Given the description of an element on the screen output the (x, y) to click on. 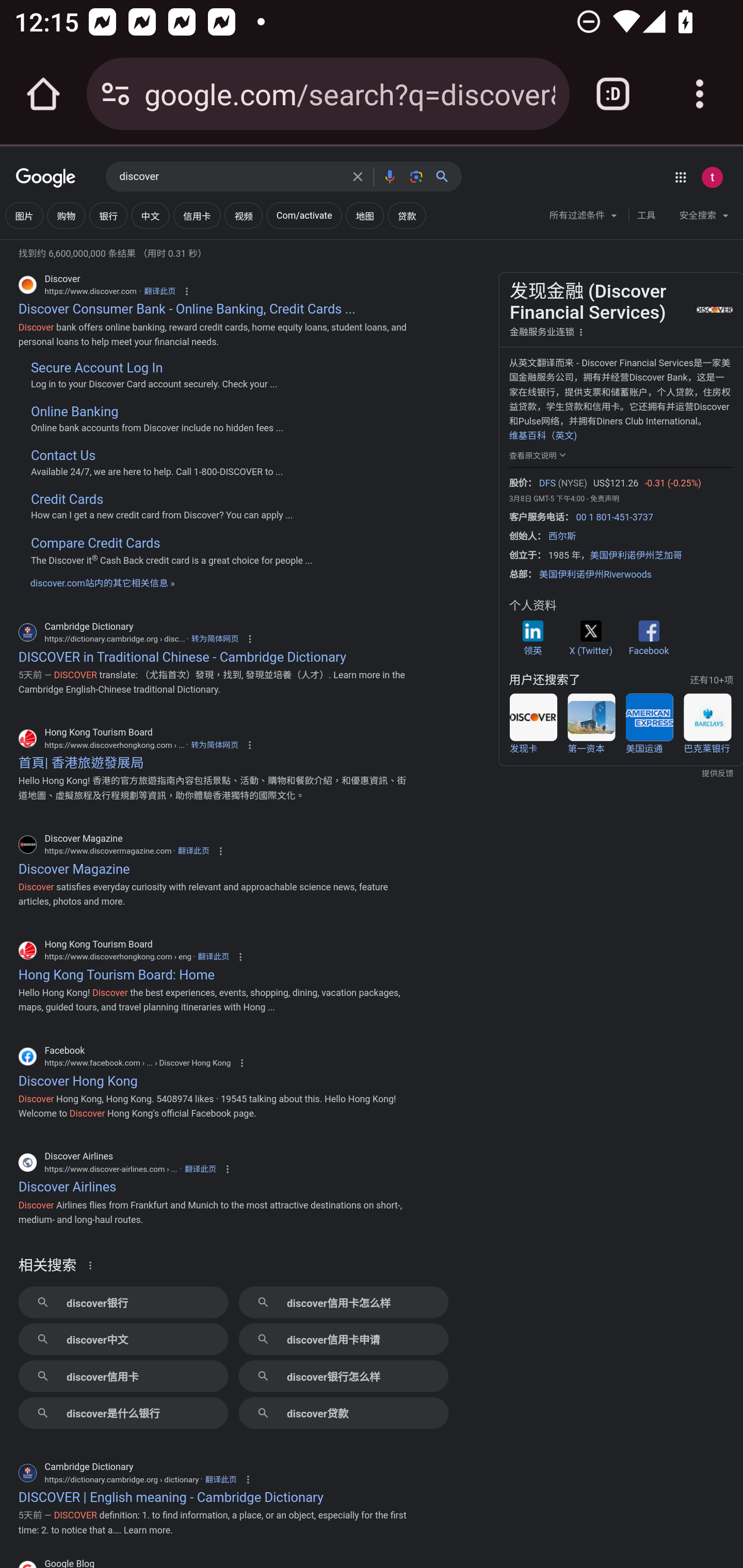
Open the home page (43, 93)
Connection is secure (115, 93)
Switch or close tabs (612, 93)
Customize and control Google Chrome (699, 93)
清除 (357, 176)
按语音搜索 (389, 176)
按图搜索 (415, 176)
搜索 (446, 176)
Google 应用 (680, 176)
Google 账号： test appium (testappium002@gmail.com) (712, 176)
Google (45, 178)
discover (229, 177)
图片 (24, 215)
购物 (65, 215)
添加“银行” 银行 (107, 215)
添加“中文” 中文 (149, 215)
添加“信用卡” 信用卡 (196, 215)
视频 (243, 215)
添加“Com/activate” Com/activate (303, 215)
地图 (364, 215)
添加“贷款” 贷款 (406, 215)
所有过滤条件 (583, 217)
工具 (646, 215)
安全搜索 (703, 217)
翻译此页 (159, 291)
“发现金融 (Discover Financial Services)”的缩略图图片 (713, 309)
更多选项 (580, 331)
Secure Account Log In (95, 368)
Online Banking (73, 412)
维基百科（英文) (542, 435)
Contact Us (62, 456)
查看原文说明 (538, 454)
DFS (546, 483)
Credit Cards (66, 499)
免责声明 (604, 498)
拨打电话 00 1 801-451-3737 (614, 516)
西尔斯 (562, 534)
Compare Credit Cards (94, 542)
美国伊利诺伊州芝加哥 (635, 555)
美国伊利诺伊州Riverwoods (595, 574)
discover.com站内的其它相关信息 » (102, 583)
领英 (532, 637)
X (Twitter) (590, 637)
Facebook (648, 637)
转为简体网页 (214, 638)
用户还搜索了 (544, 679)
还有10+项 (711, 680)
发现卡 (532, 724)
第一资本 (590, 724)
美国运通 (648, 724)
巴克莱银行 (706, 724)
转为简体网页 (214, 744)
提供反馈 (620, 773)
翻译此页 (192, 849)
翻译此页 (213, 956)
翻译此页 (200, 1169)
关于这条结果的详细信息 (93, 1264)
discover银行 (122, 1301)
discover信用卡怎么样 (343, 1301)
discover中文 (122, 1338)
discover信用卡申请 (343, 1338)
discover信用卡 (122, 1375)
discover银行怎么样 (343, 1375)
discover是什么银行 (122, 1413)
discover贷款 (343, 1413)
翻译此页 (220, 1479)
